Given the description of an element on the screen output the (x, y) to click on. 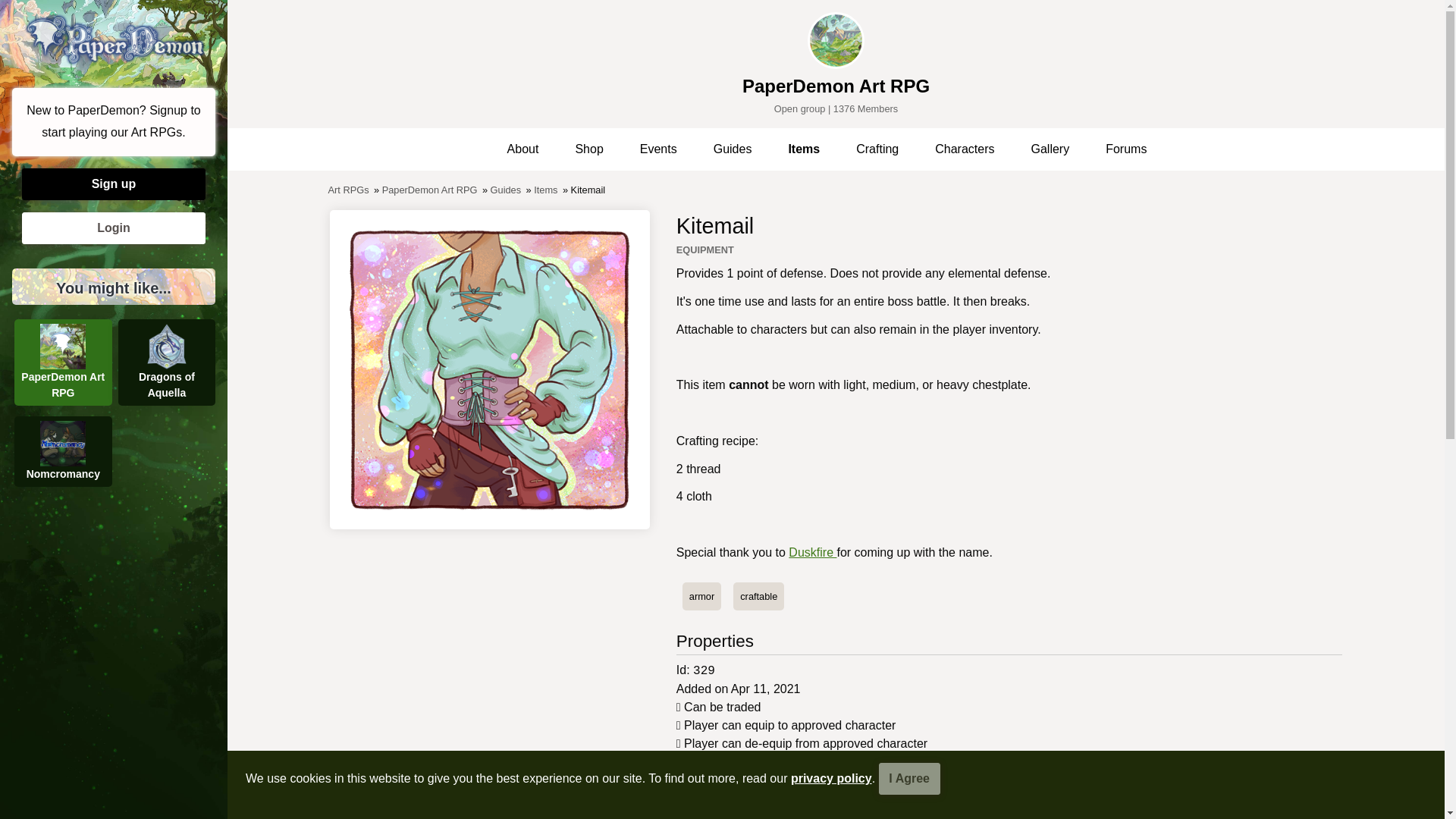
Nomcromancy (63, 451)
privacy policy (831, 778)
armor (701, 596)
Guides (732, 148)
About (523, 148)
I Agree (909, 778)
Shop (588, 148)
Login (113, 228)
Gallery (1008, 811)
